Given the description of an element on the screen output the (x, y) to click on. 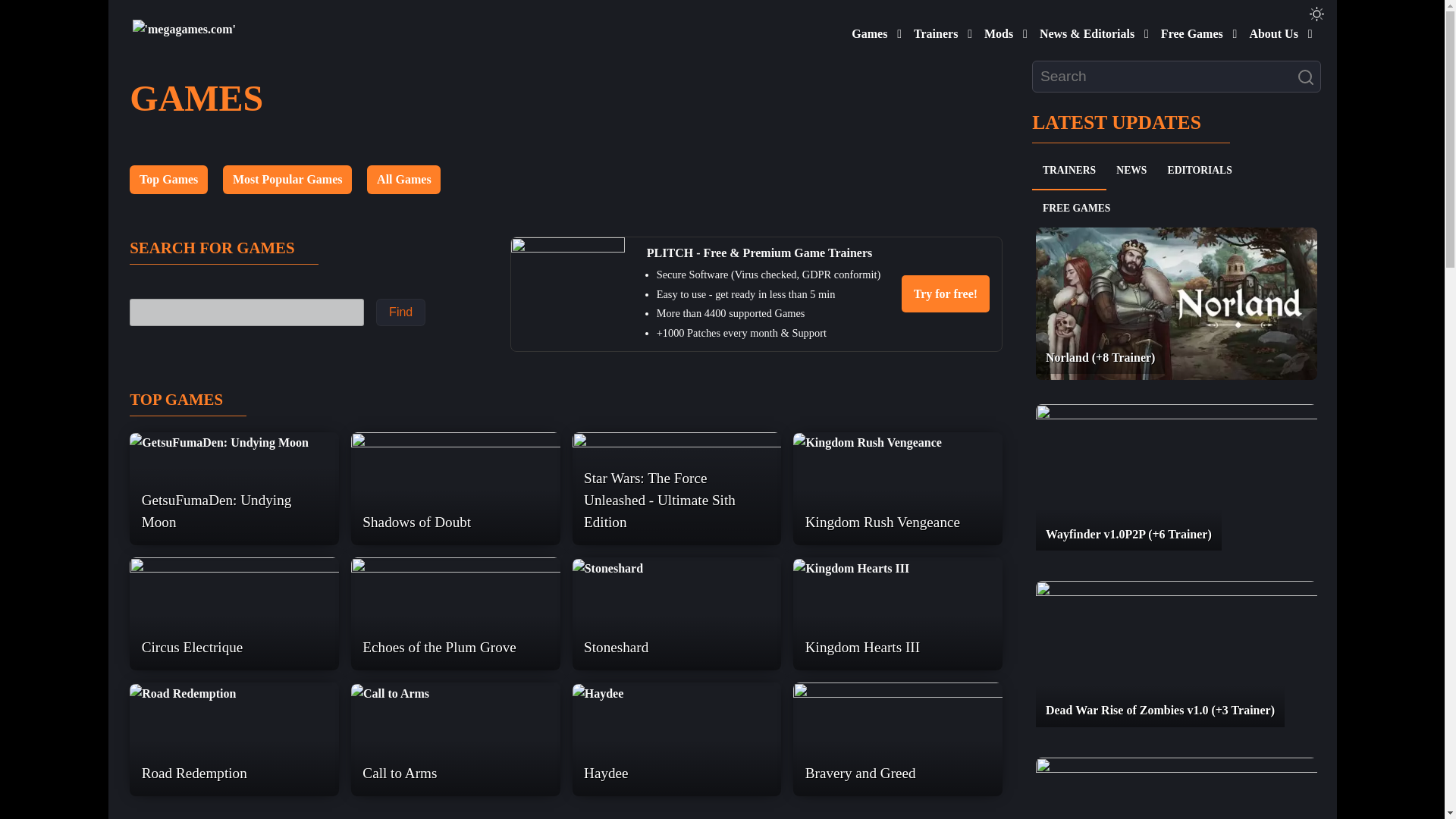
Games (866, 31)
Star Wars: The Force Unleashed - Ultimate Sith Edition (676, 488)
Road Redemption (182, 693)
Call to Arms (455, 692)
Haydee (676, 692)
Bravery and Greed (898, 738)
Road Redemption (234, 692)
Stoneshard (607, 568)
Echoes of the Plum Grove (455, 613)
Shadows of Doubt (455, 488)
